Given the description of an element on the screen output the (x, y) to click on. 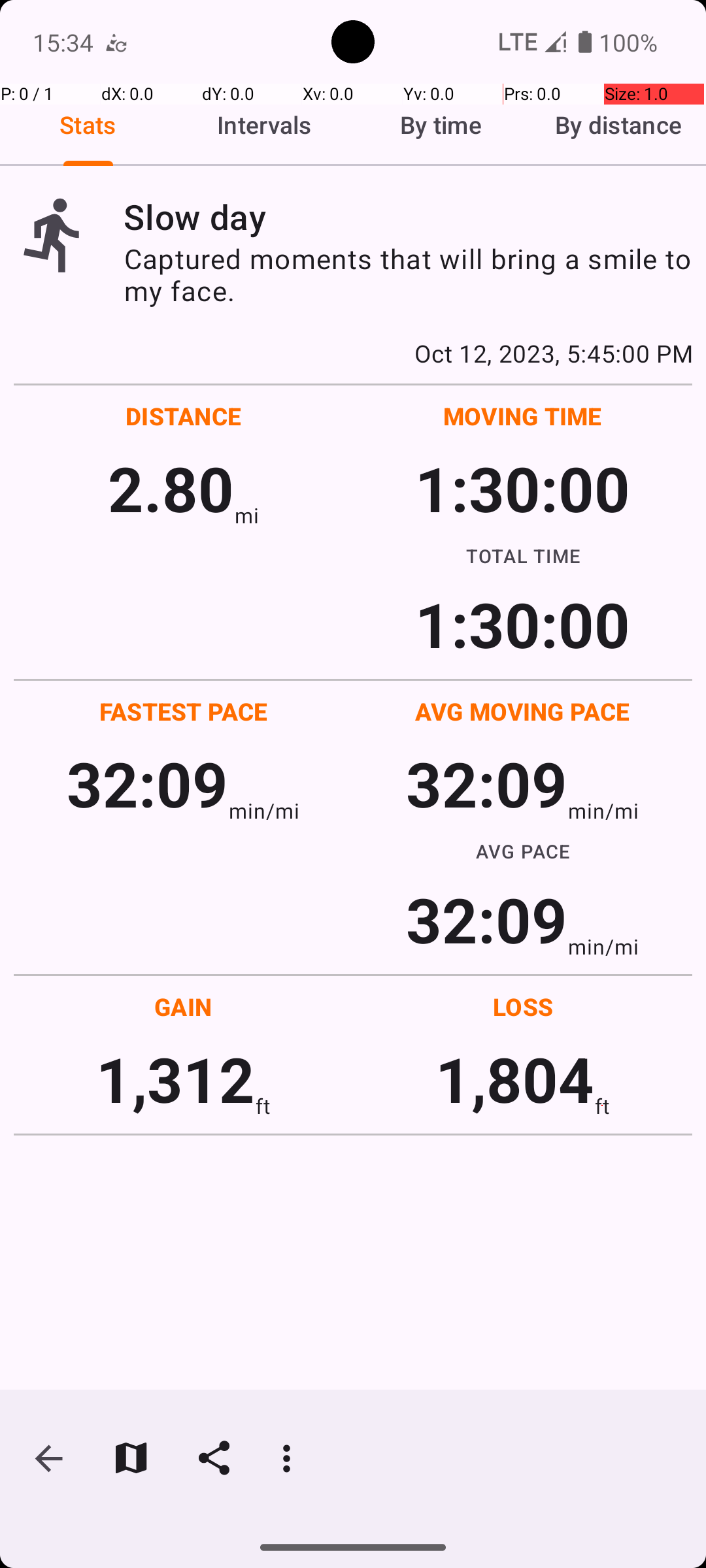
Slow day Element type: android.widget.TextView (407, 216)
Captured moments that will bring a smile to my face. Element type: android.widget.TextView (407, 274)
Oct 12, 2023, 5:45:00 PM Element type: android.widget.TextView (352, 352)
2.80 Element type: android.widget.TextView (170, 487)
1:30:00 Element type: android.widget.TextView (522, 487)
FASTEST PACE Element type: android.widget.TextView (183, 710)
AVG MOVING PACE Element type: android.widget.TextView (522, 710)
32:09 Element type: android.widget.TextView (147, 782)
min/mi Element type: android.widget.TextView (264, 810)
AVG PACE Element type: android.widget.TextView (522, 850)
1,312 Element type: android.widget.TextView (175, 1077)
1,804 Element type: android.widget.TextView (514, 1077)
